Given the description of an element on the screen output the (x, y) to click on. 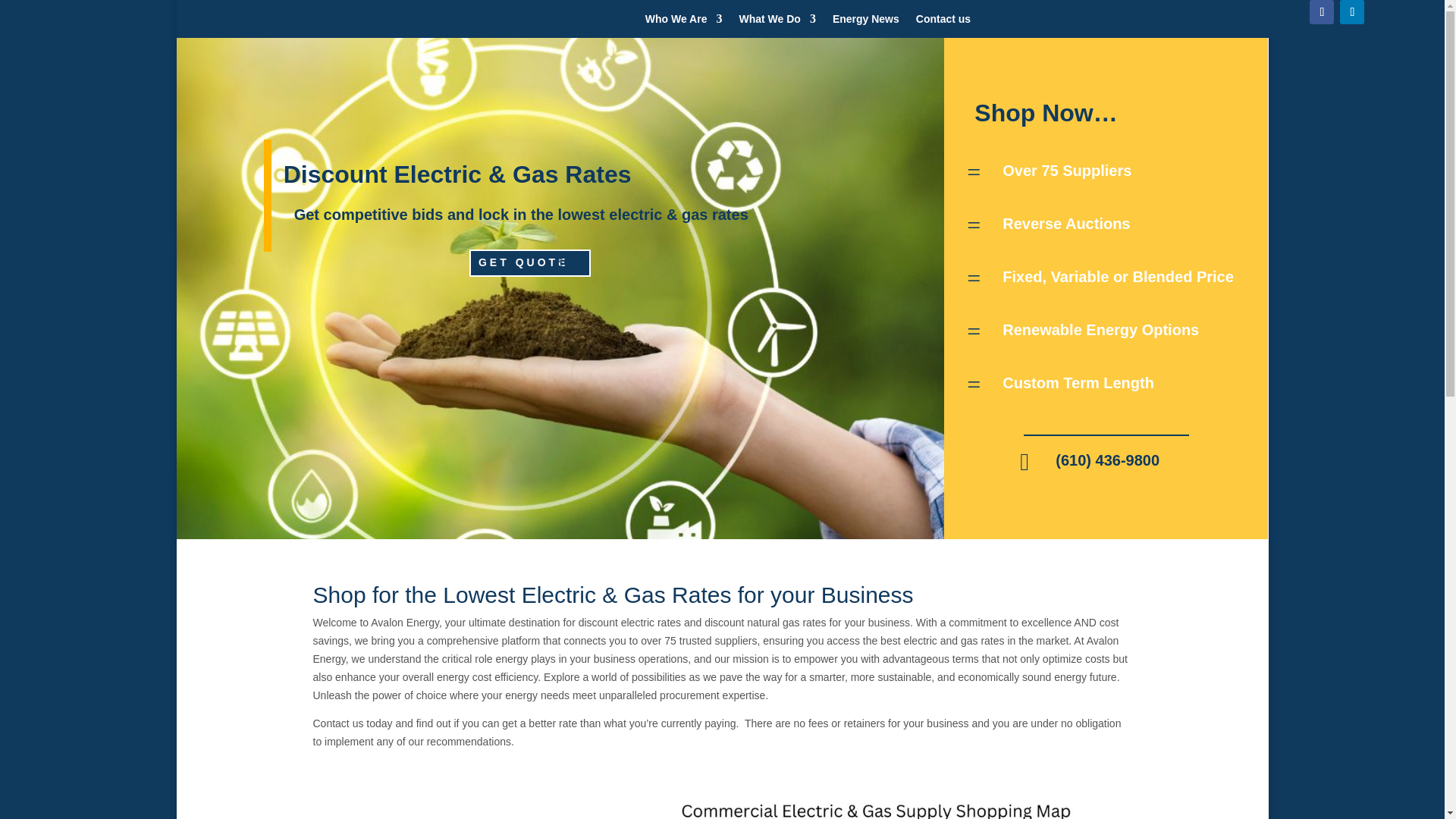
Follow on Facebook (1320, 12)
GET QUOTE (529, 262)
Energy News (865, 21)
Who We Are (683, 21)
Follow on LinkedIn (1351, 12)
What We Do (776, 21)
Contact us (943, 21)
